Given the description of an element on the screen output the (x, y) to click on. 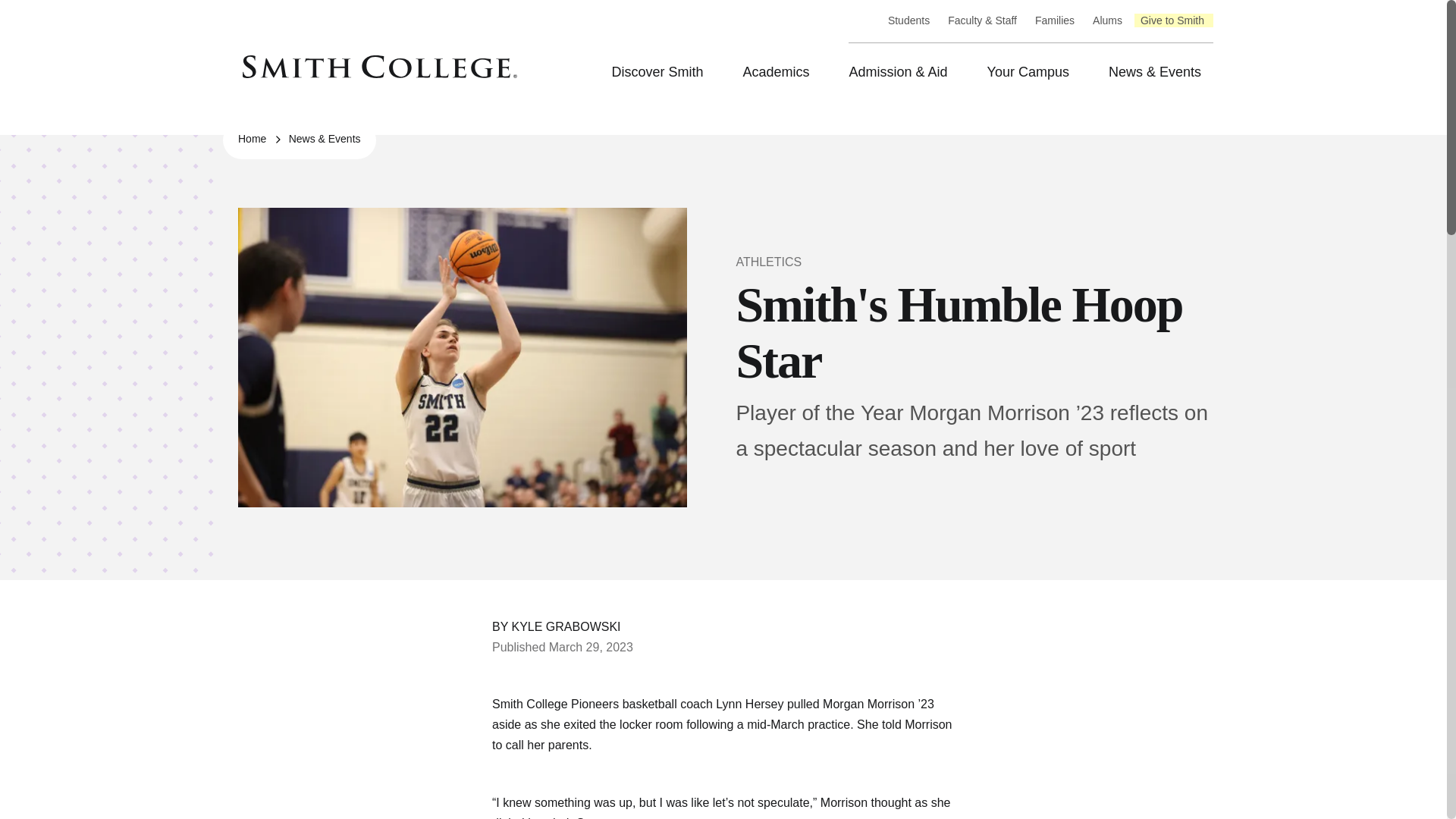
Academics (779, 72)
Search (13, 13)
Smith College logo (382, 66)
Give to Smith (1171, 21)
Discover Smith (660, 72)
Families (1054, 21)
Alums (1107, 21)
Search Toggle (863, 20)
Students (909, 21)
